Given the description of an element on the screen output the (x, y) to click on. 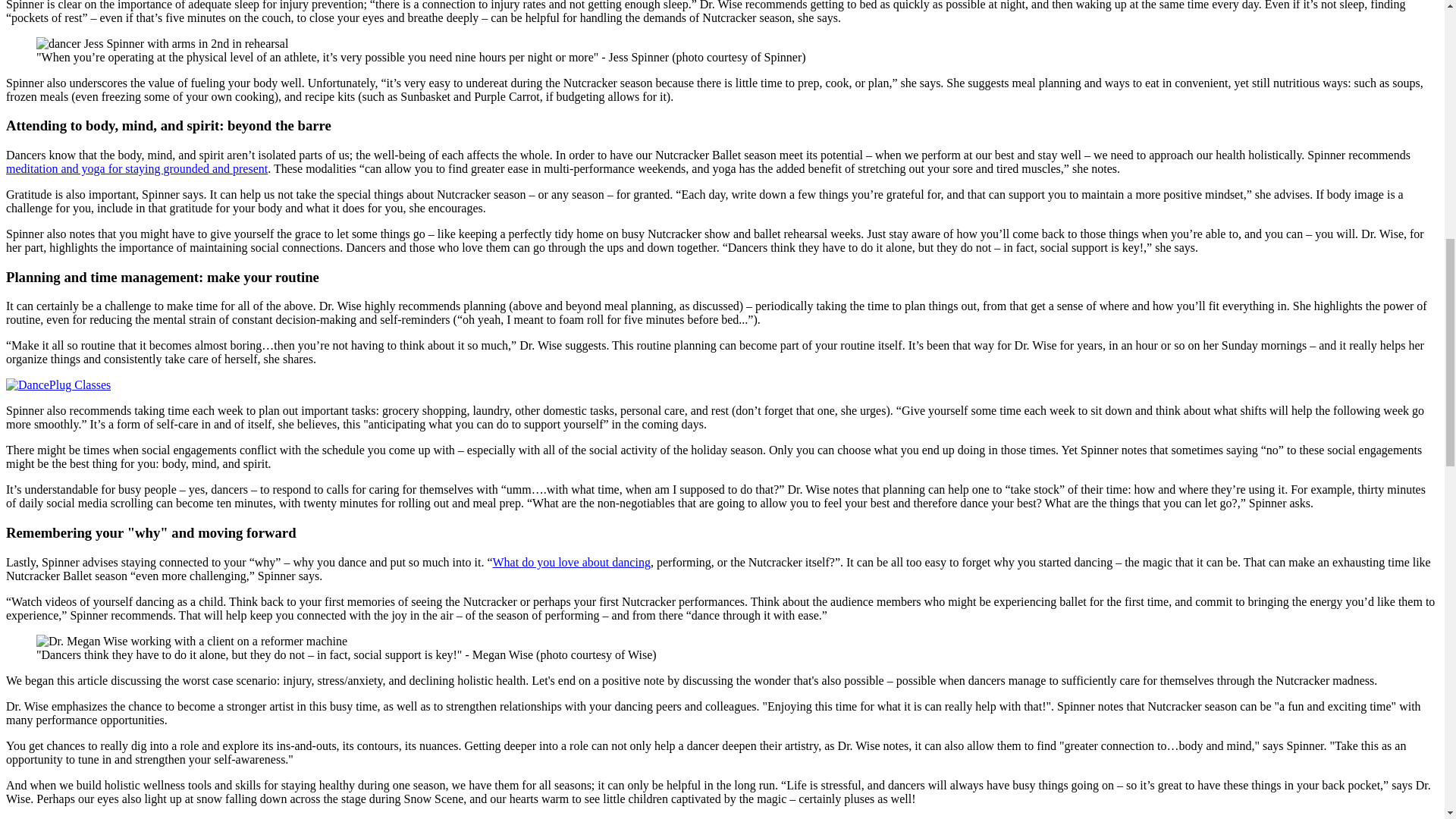
In Valentine's Day Spirit: What Made You Love Dance? (571, 562)
